Given the description of an element on the screen output the (x, y) to click on. 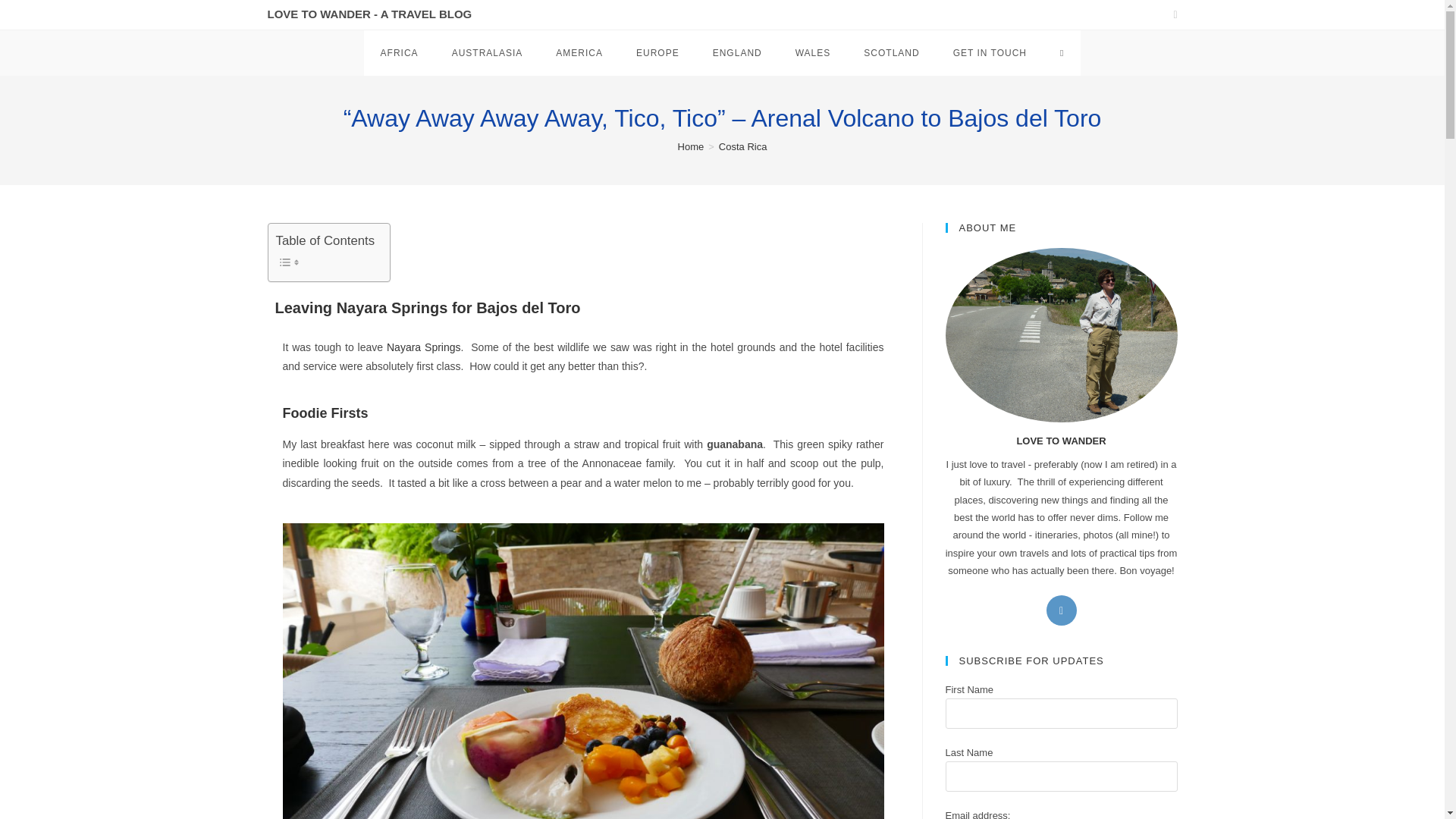
Home (691, 146)
Costa Rica (743, 146)
AUSTRALASIA (487, 53)
GET IN TOUCH (989, 53)
SCOTLAND (891, 53)
ENGLAND (736, 53)
AMERICA (579, 53)
WALES (812, 53)
EUROPE (657, 53)
AFRICA (399, 53)
Nayara Springs (424, 346)
